Given the description of an element on the screen output the (x, y) to click on. 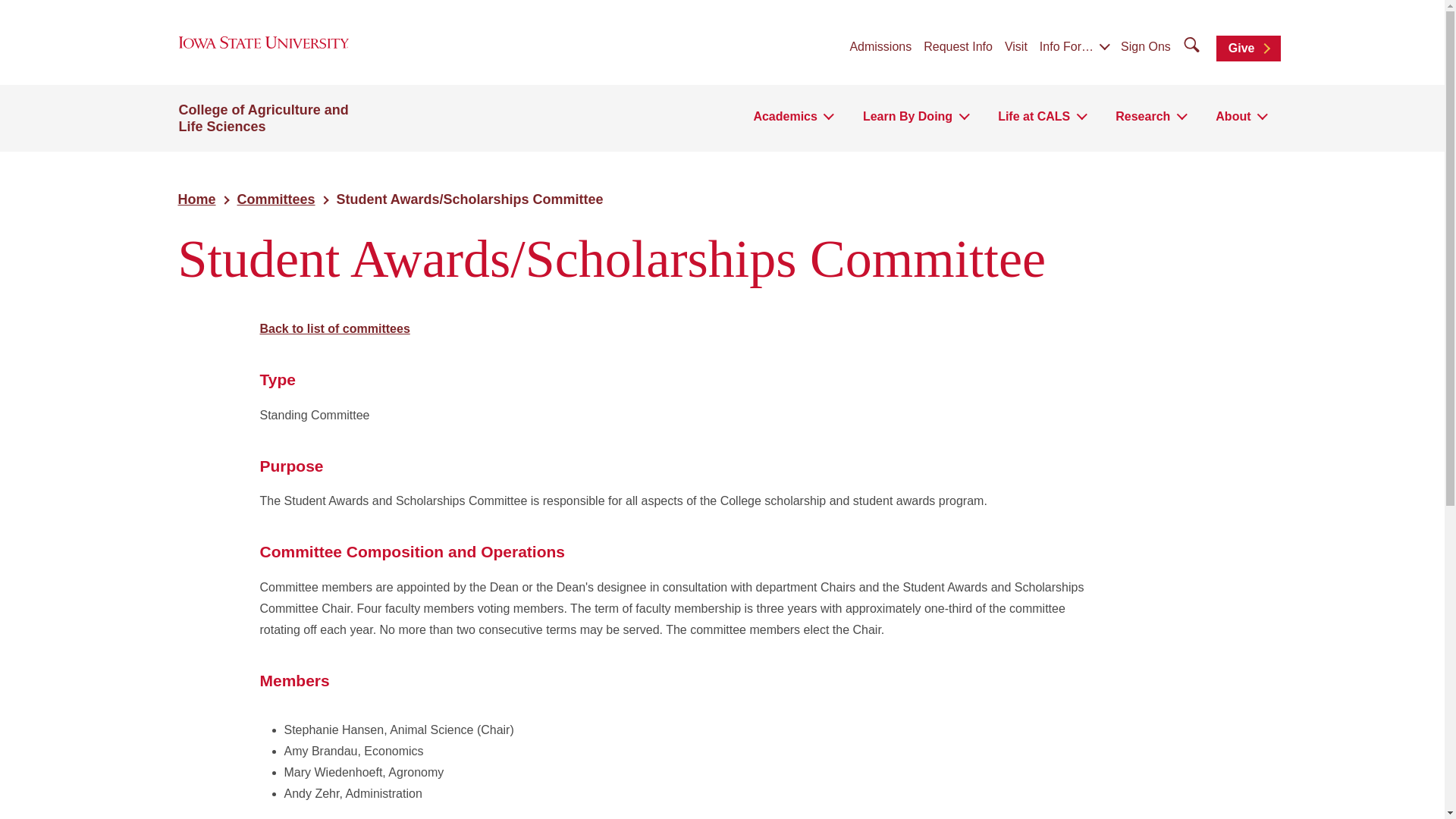
Sign Ons (1145, 48)
Search (14, 14)
Visit (1015, 48)
Request Info (957, 48)
Give (1248, 48)
Admissions (879, 48)
College of Agriculture and Life Sciences (264, 117)
